Given the description of an element on the screen output the (x, y) to click on. 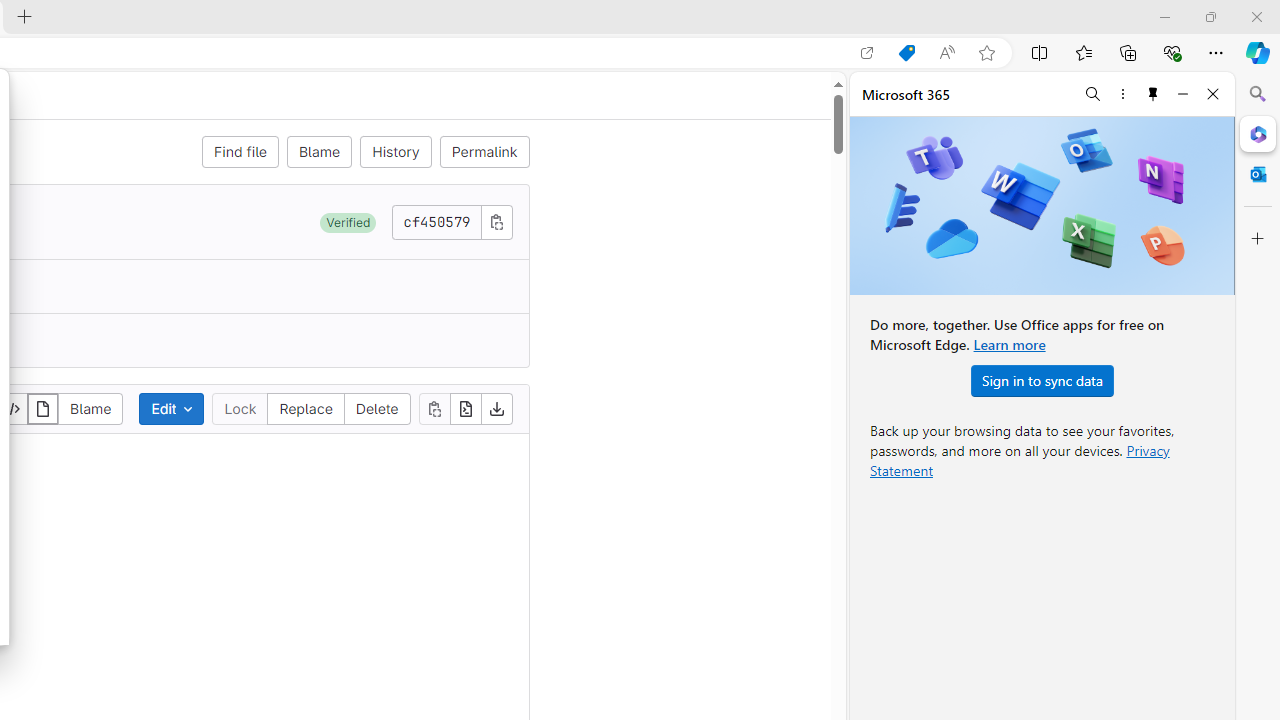
Next Match (Enter) (1066, 106)
Use Regular Expression (Alt+R) (943, 107)
More Actions... (1256, 52)
Find in Selection (Alt+L) (1091, 106)
Close (Escape) (1115, 107)
Match Whole Word (Alt+W) (921, 107)
Title actions (1089, 16)
